Given the description of an element on the screen output the (x, y) to click on. 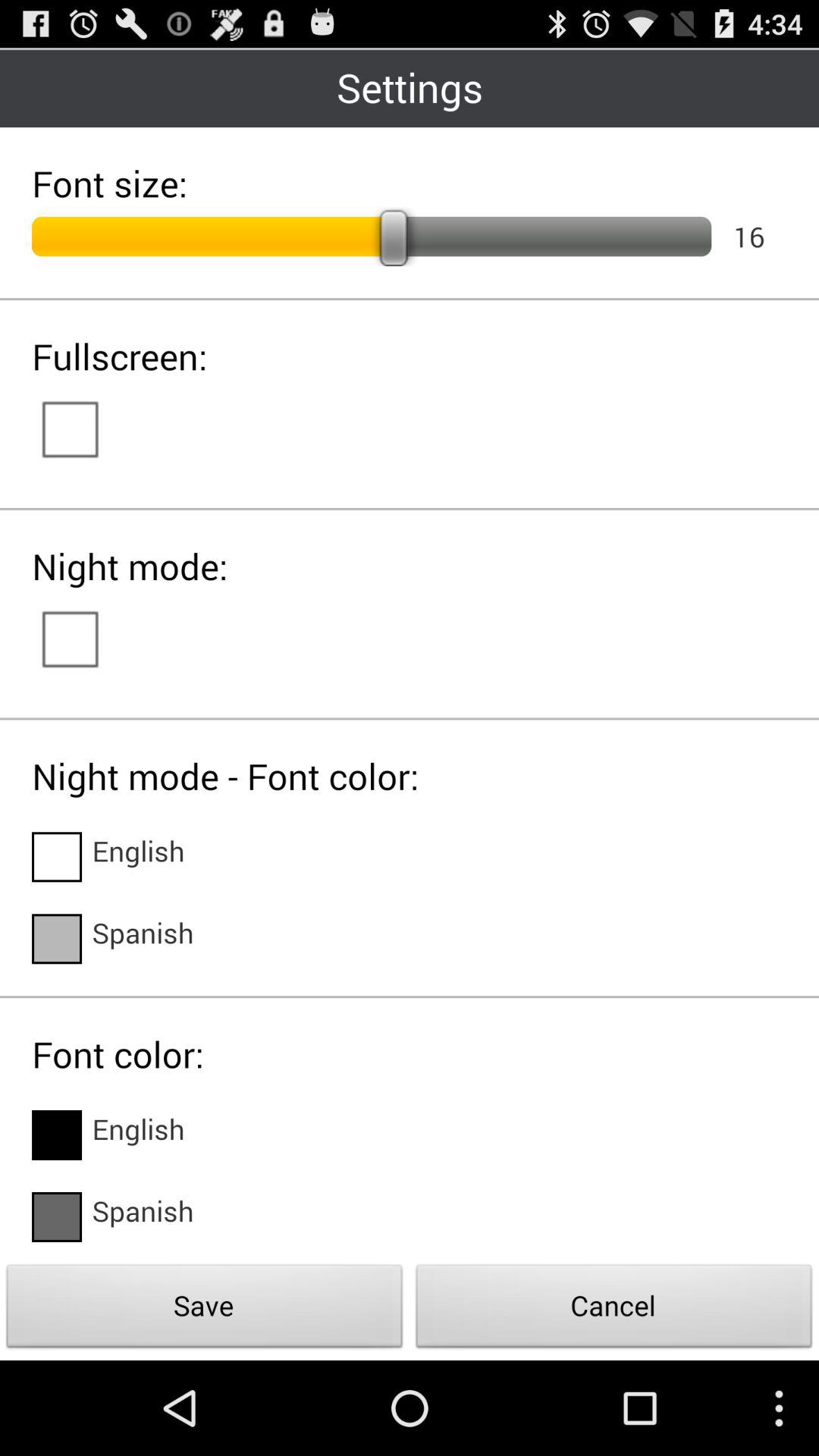
spanish font color (56, 1217)
